Given the description of an element on the screen output the (x, y) to click on. 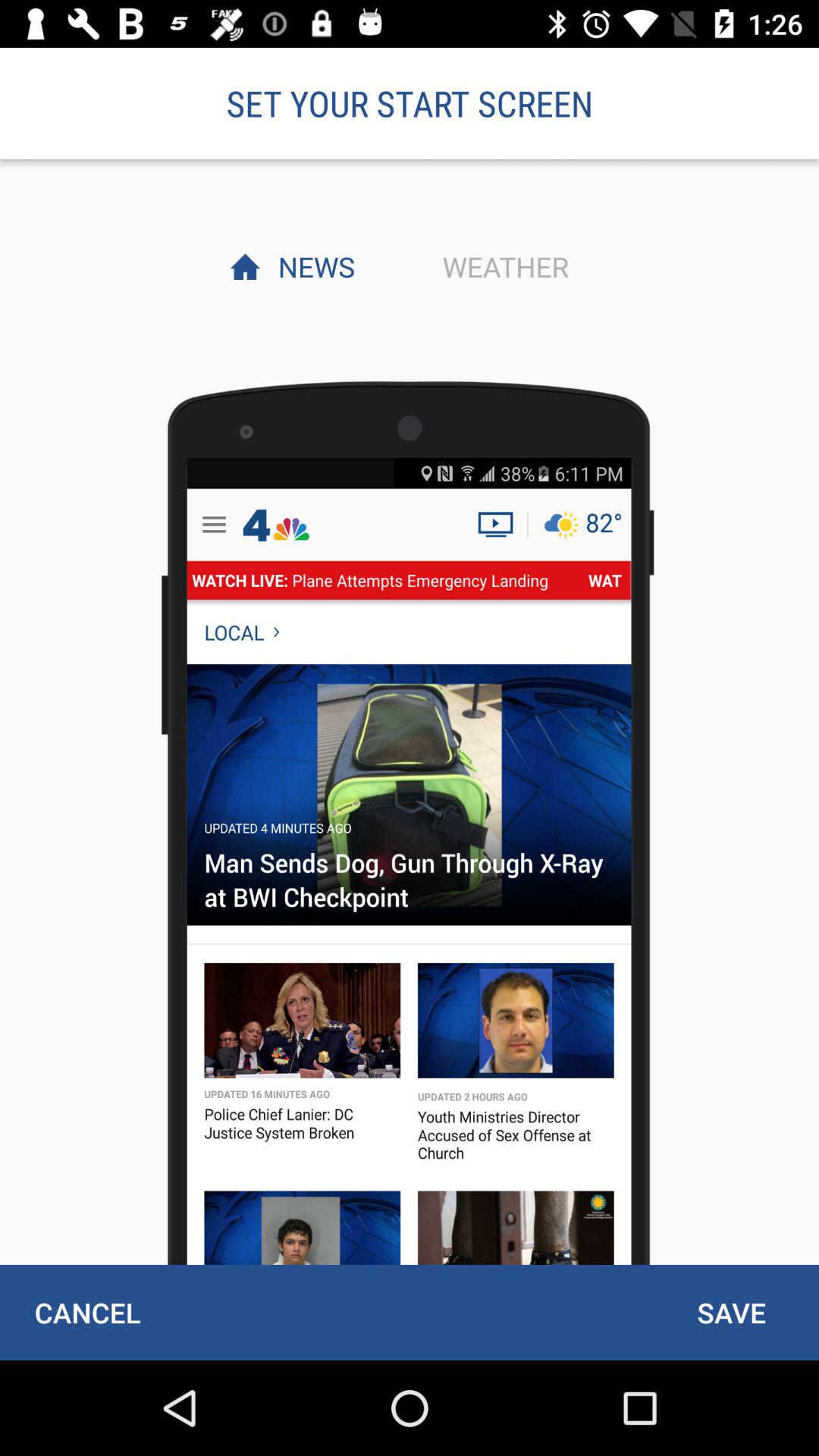
turn off item next to the weather item (312, 266)
